Given the description of an element on the screen output the (x, y) to click on. 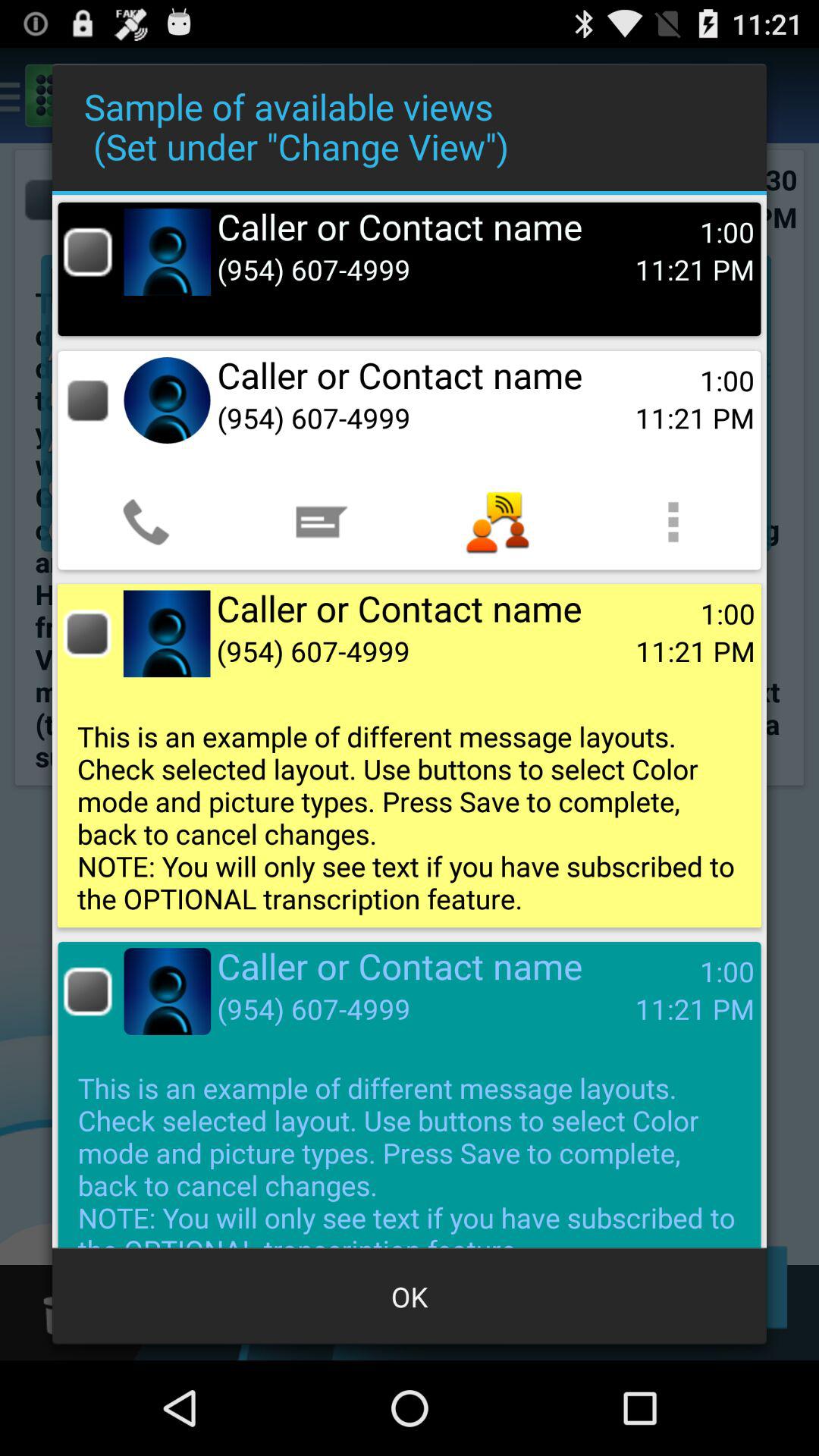
press ok item (409, 1296)
